Given the description of an element on the screen output the (x, y) to click on. 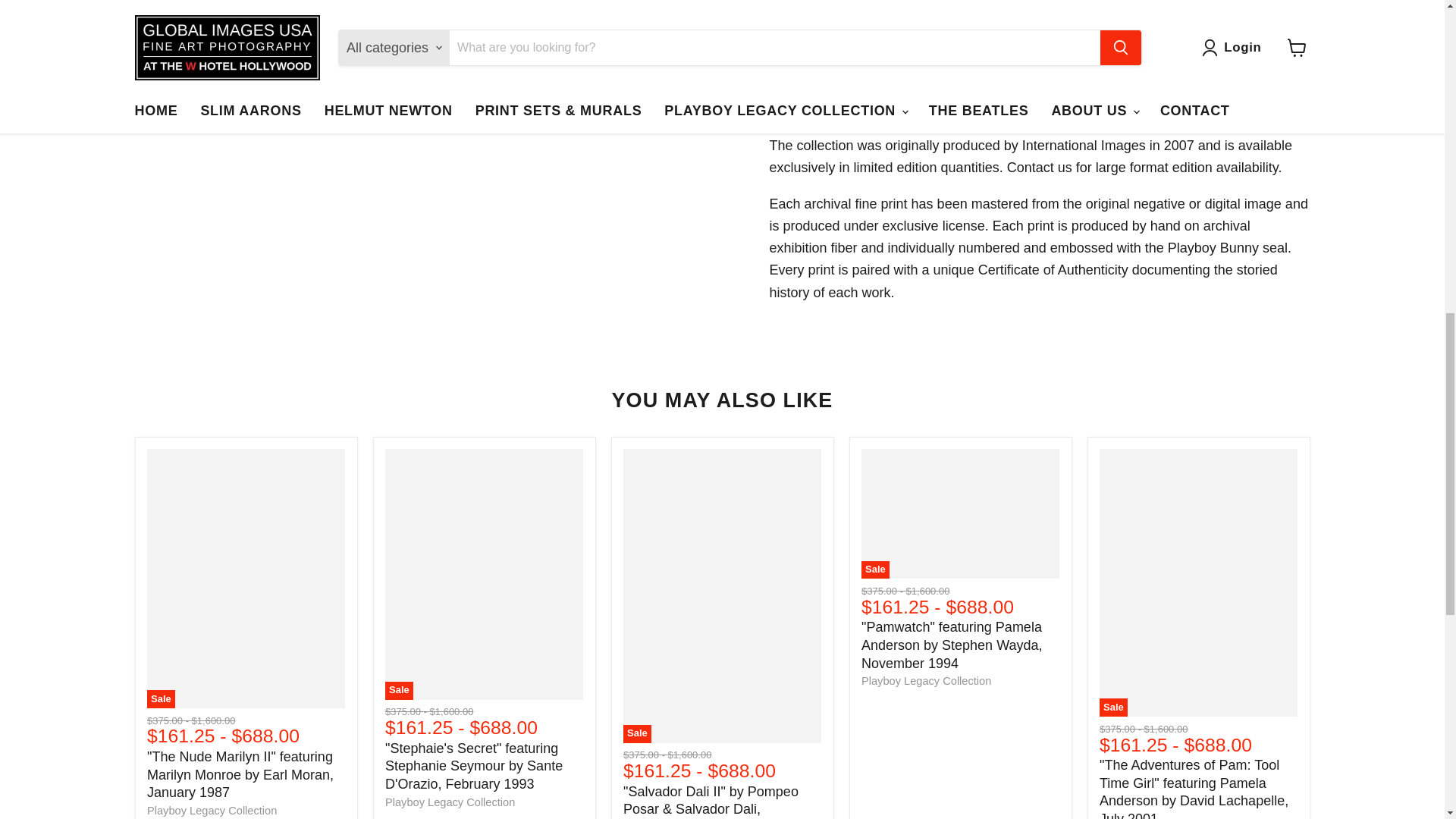
Playboy Legacy Collection (450, 802)
Playboy Legacy Collection (211, 810)
Playboy Legacy Collection (926, 680)
